Given the description of an element on the screen output the (x, y) to click on. 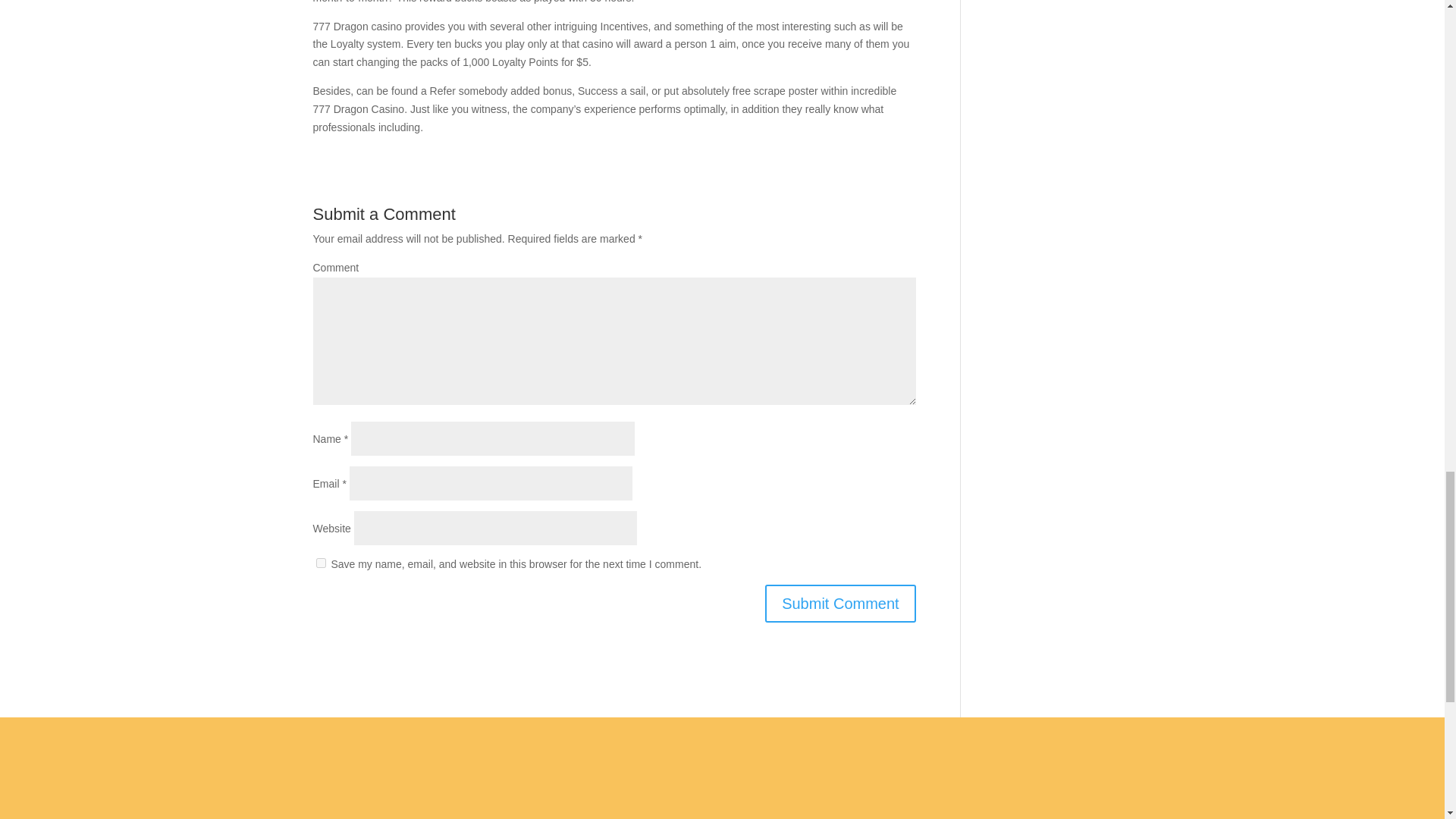
Submit Comment (840, 603)
Submit Comment (840, 603)
yes (319, 562)
